Given the description of an element on the screen output the (x, y) to click on. 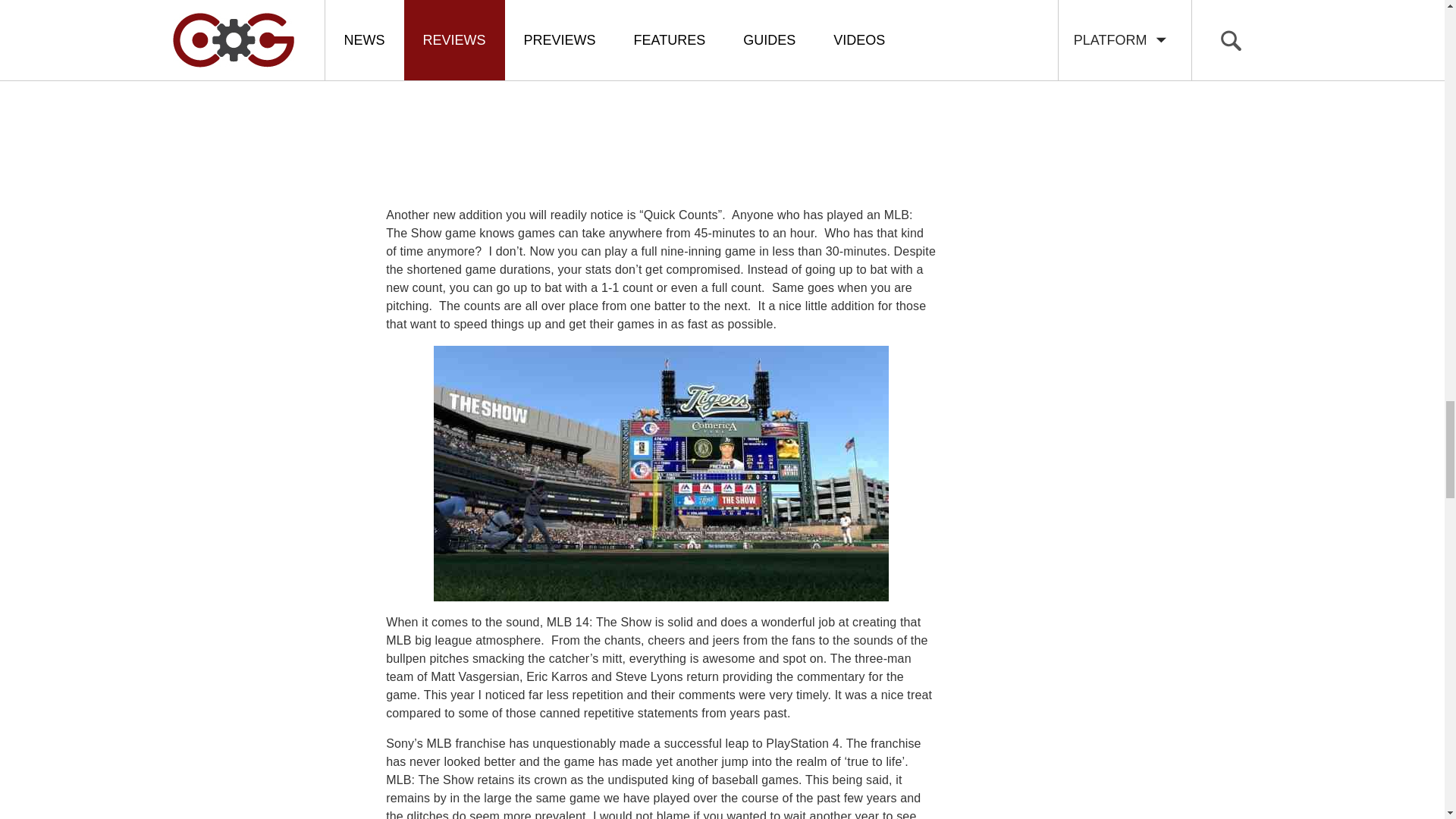
MLB03 (660, 473)
